Given the description of an element on the screen output the (x, y) to click on. 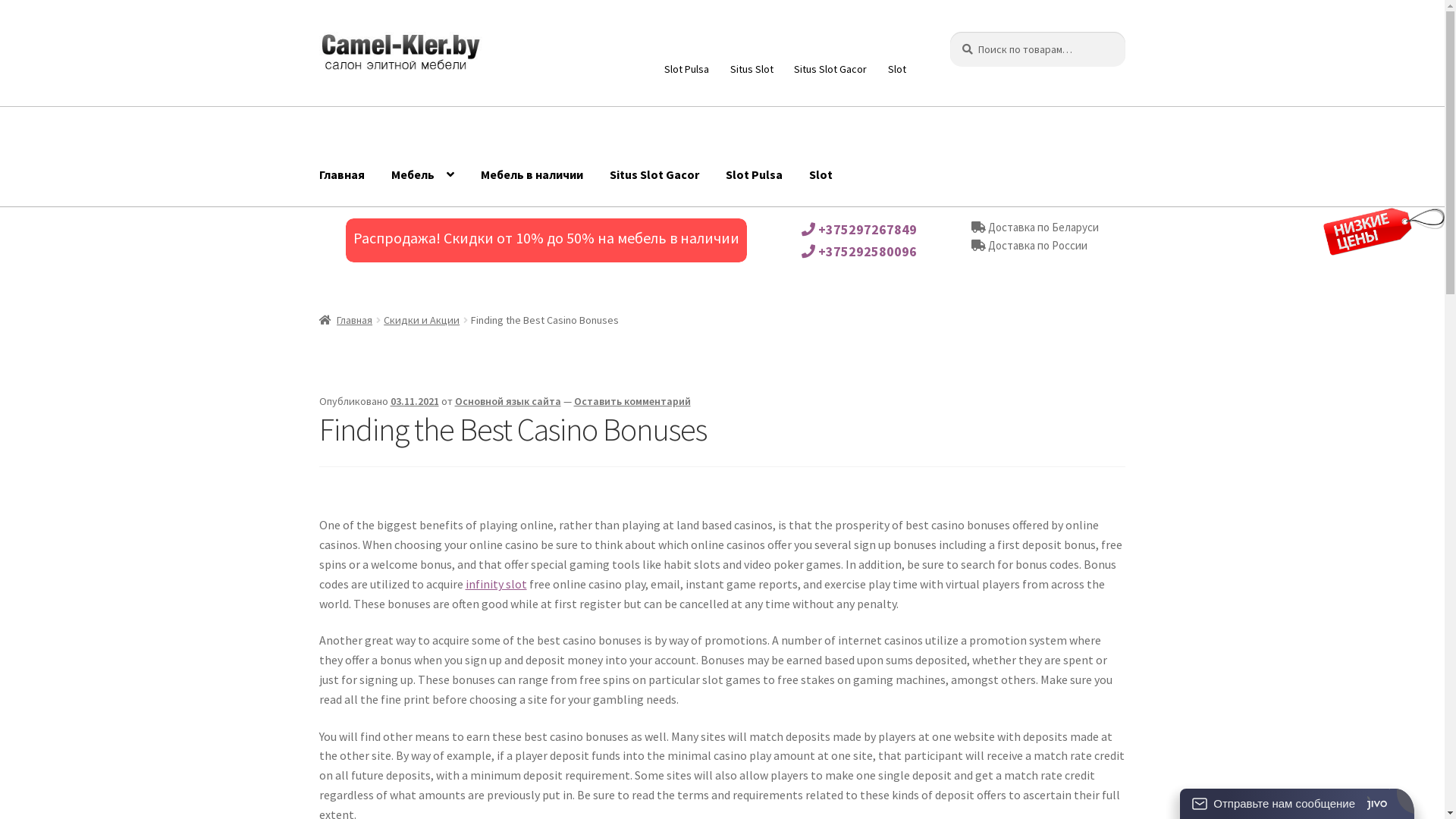
Situs Slot Element type: text (751, 68)
+375297267849 Element type: text (858, 229)
Situs Slot Gacor Element type: text (830, 68)
infinity slot Element type: text (496, 583)
Slot Element type: text (896, 68)
03.11.2021 Element type: text (414, 400)
Slot Pulsa Element type: text (753, 174)
Situs Slot Gacor Element type: text (654, 174)
Slot Pulsa Element type: text (686, 68)
+375292580096 Element type: text (858, 251)
Slot Element type: text (820, 174)
